Given the description of an element on the screen output the (x, y) to click on. 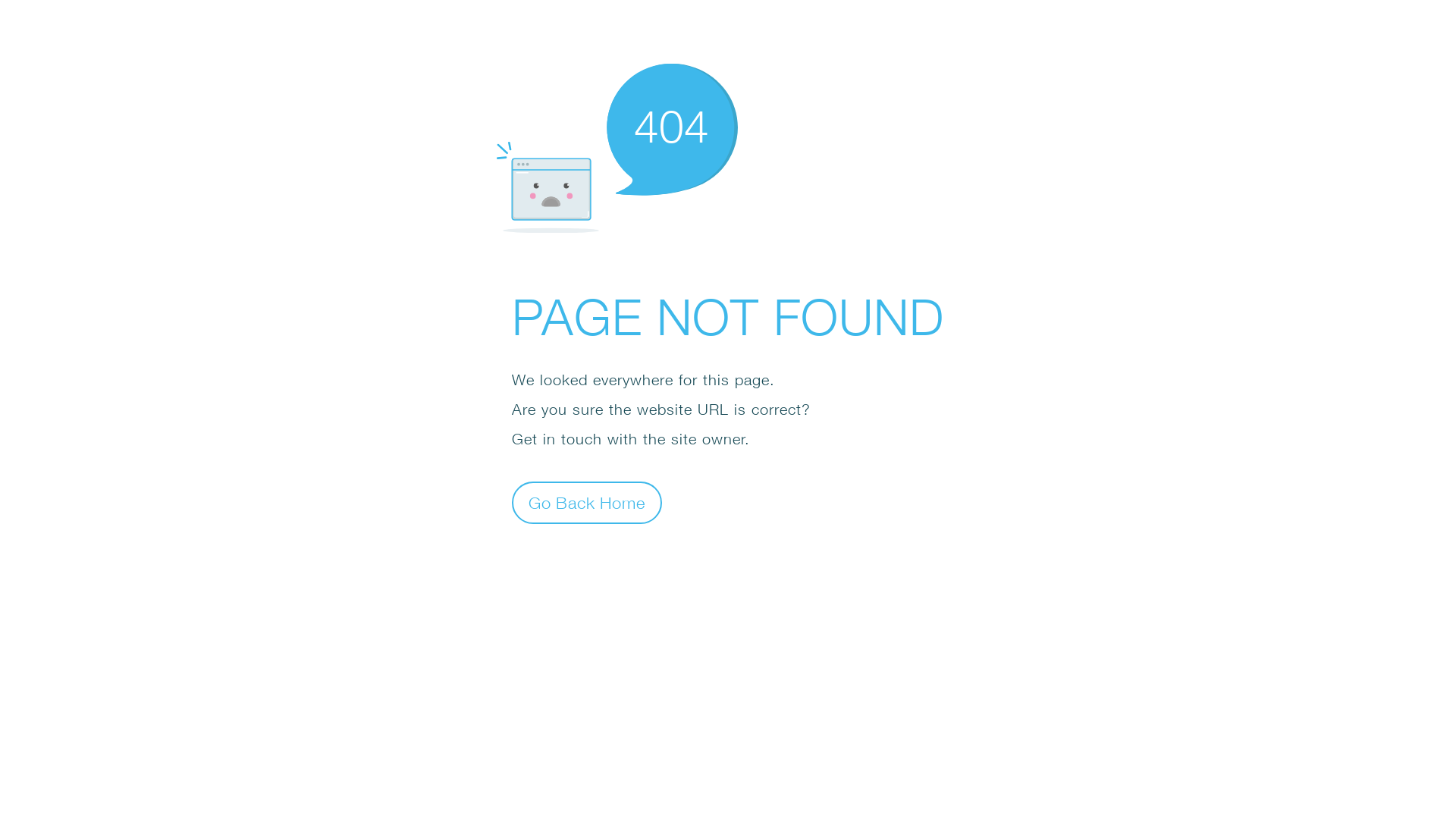
Go Back Home Element type: text (586, 502)
